Given the description of an element on the screen output the (x, y) to click on. 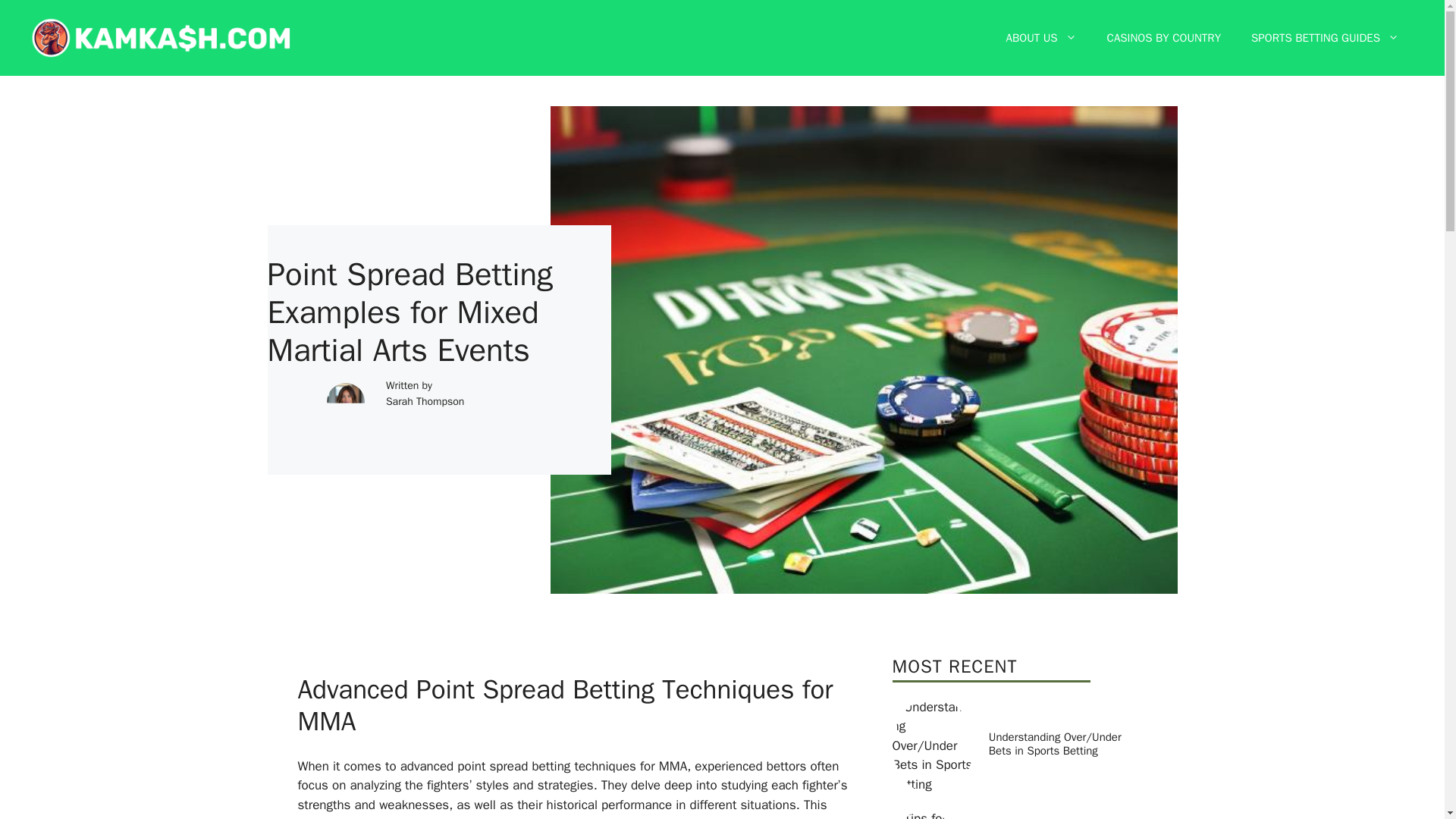
SPORTS BETTING GUIDES (1324, 37)
CASINOS BY COUNTRY (1164, 37)
ABOUT US (1041, 37)
